Given the description of an element on the screen output the (x, y) to click on. 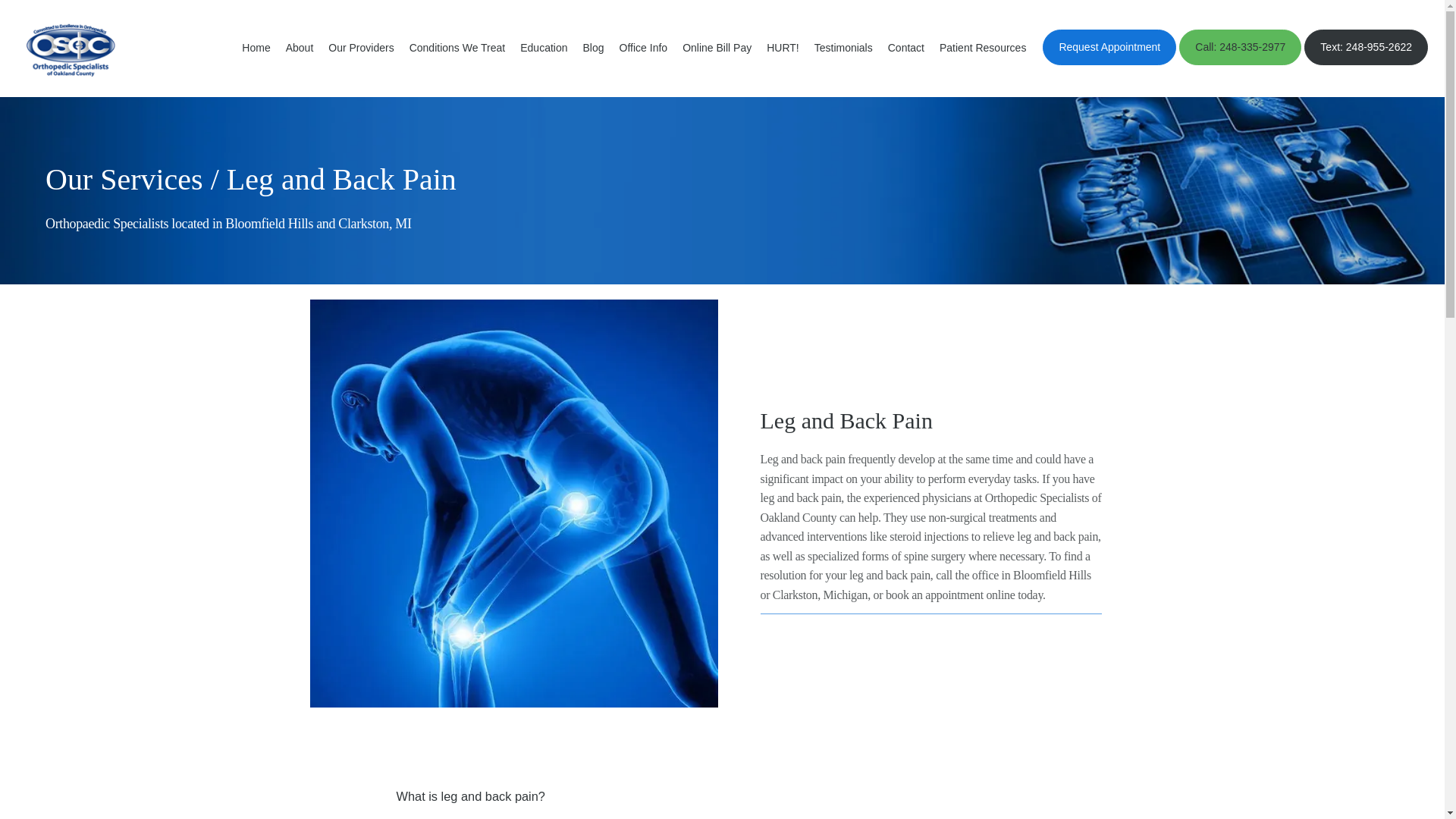
Online Bill Pay (716, 47)
Our Providers (361, 47)
Testimonials (842, 47)
Conditions We Treat (457, 47)
Contact (906, 47)
HURT! (783, 47)
Blog (593, 47)
Education (543, 47)
About (299, 47)
Home (255, 47)
